Given the description of an element on the screen output the (x, y) to click on. 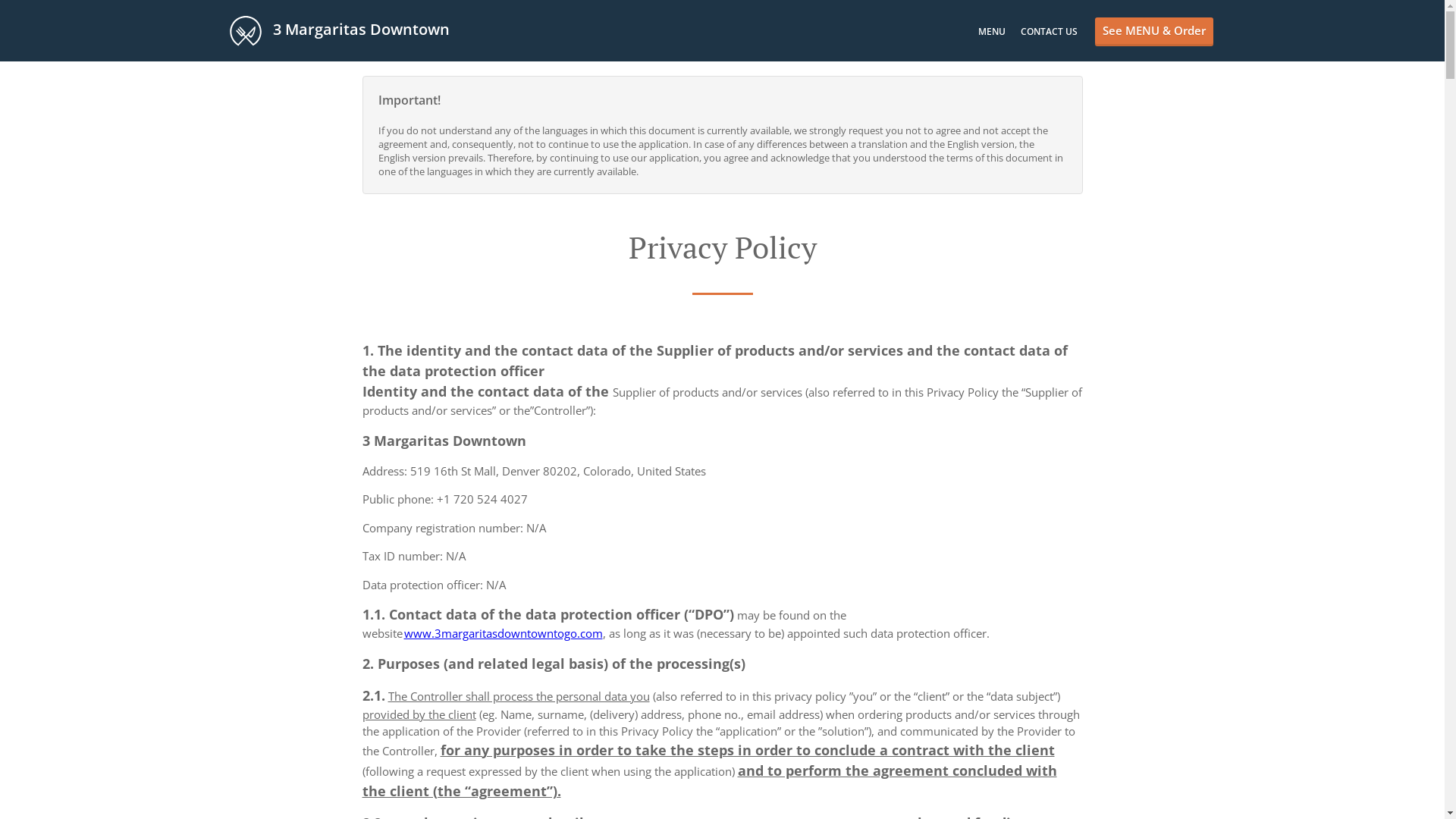
 3 Margaritas Downtown Element type: text (346, 30)
www.3margaritasdowntowntogo.com Element type: text (501, 632)
CONTACT US Element type: text (1048, 31)
MENU Element type: text (991, 31)
